Given the description of an element on the screen output the (x, y) to click on. 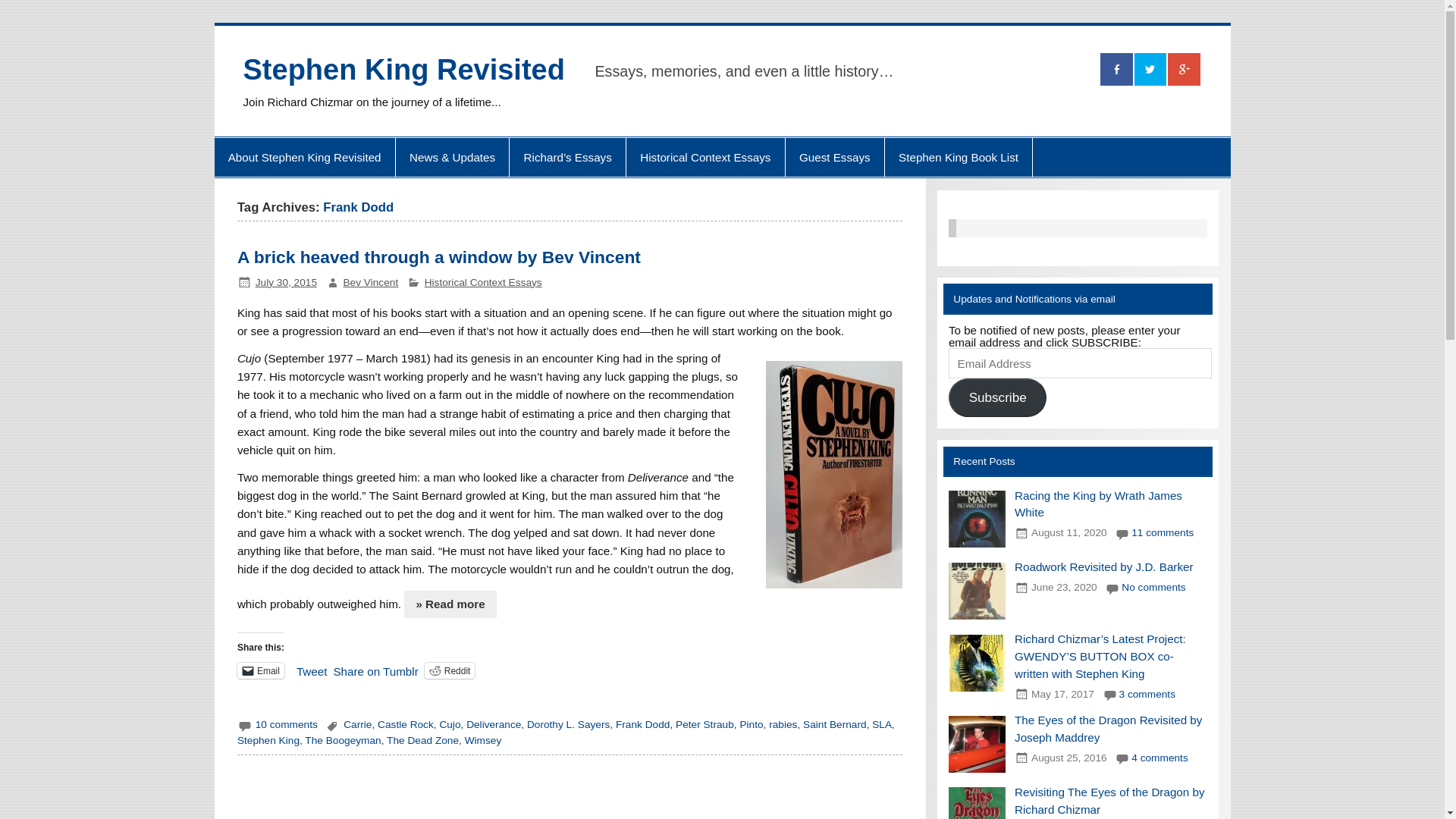
About Stephen King Revisited (304, 157)
Frank Dodd (642, 724)
The Boogeyman (342, 740)
2:41 pm (286, 282)
Click to share on Reddit (450, 670)
Roadwork Revisited by J.D. Barker (1103, 566)
10 comments (286, 724)
Share on Tumblr (375, 669)
Reddit (450, 670)
Saint Bernard (834, 724)
View all posts by Bev Vincent (369, 282)
Dorothy L. Sayers (568, 724)
Stephen King (268, 740)
Share on Tumblr (375, 669)
Cujo (449, 724)
